Given the description of an element on the screen output the (x, y) to click on. 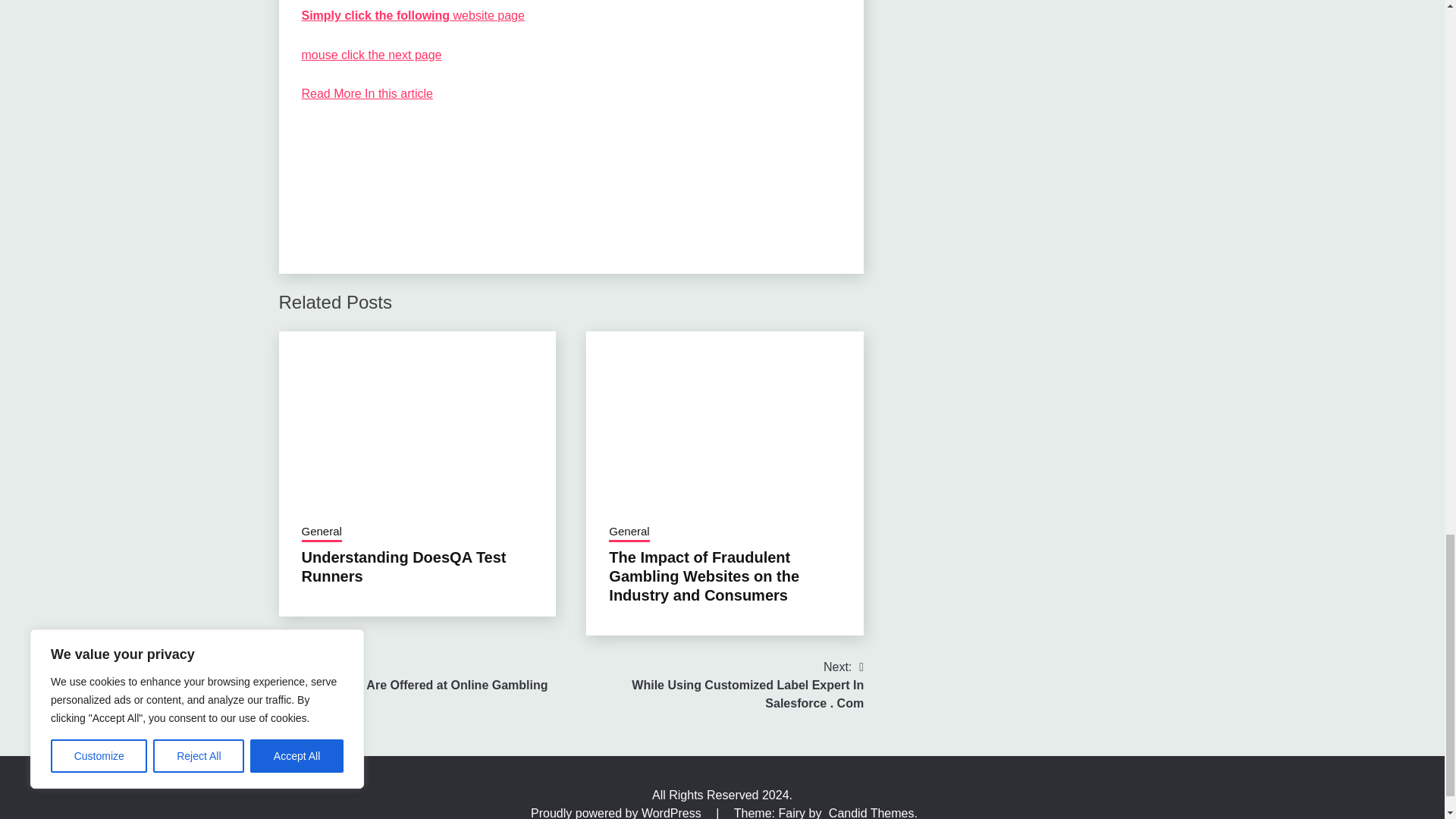
Read More In this article (366, 92)
mouse click the next page (371, 54)
Simply click the following website page (412, 15)
General (321, 532)
